Given the description of an element on the screen output the (x, y) to click on. 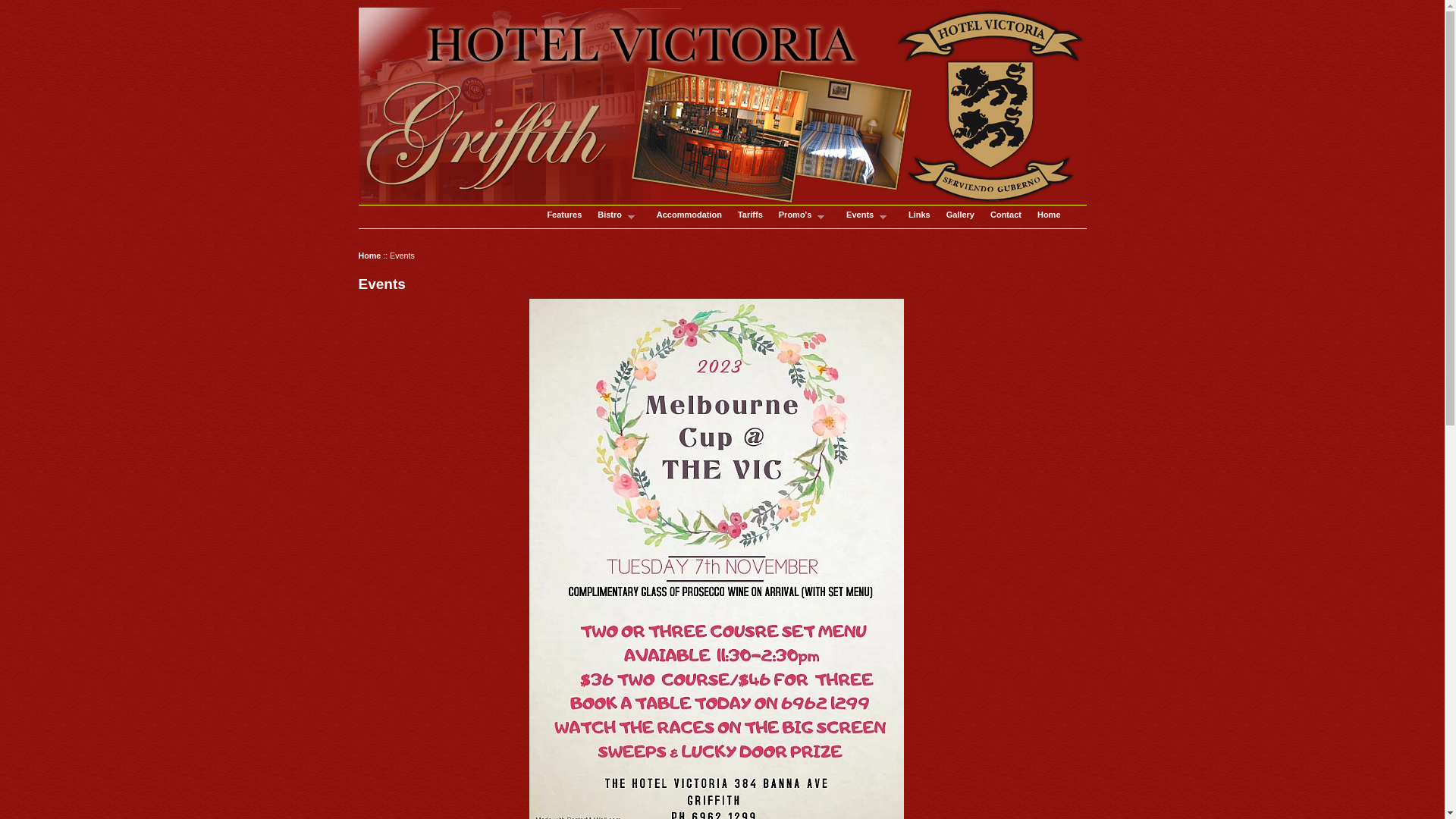
Accommodation Element type: text (689, 216)
Links Element type: text (919, 214)
Tariffs Element type: text (750, 216)
Accommodation Element type: text (688, 214)
Features Element type: text (563, 214)
Home Element type: text (368, 255)
Home Element type: text (1048, 214)
Tariffs Element type: text (749, 214)
Features Element type: text (564, 216)
Home Element type: text (1048, 216)
Gallery Element type: text (960, 216)
Contact Element type: text (1005, 214)
Contact Element type: text (1005, 216)
Links Element type: text (919, 216)
Gallery Element type: text (960, 214)
